Given the description of an element on the screen output the (x, y) to click on. 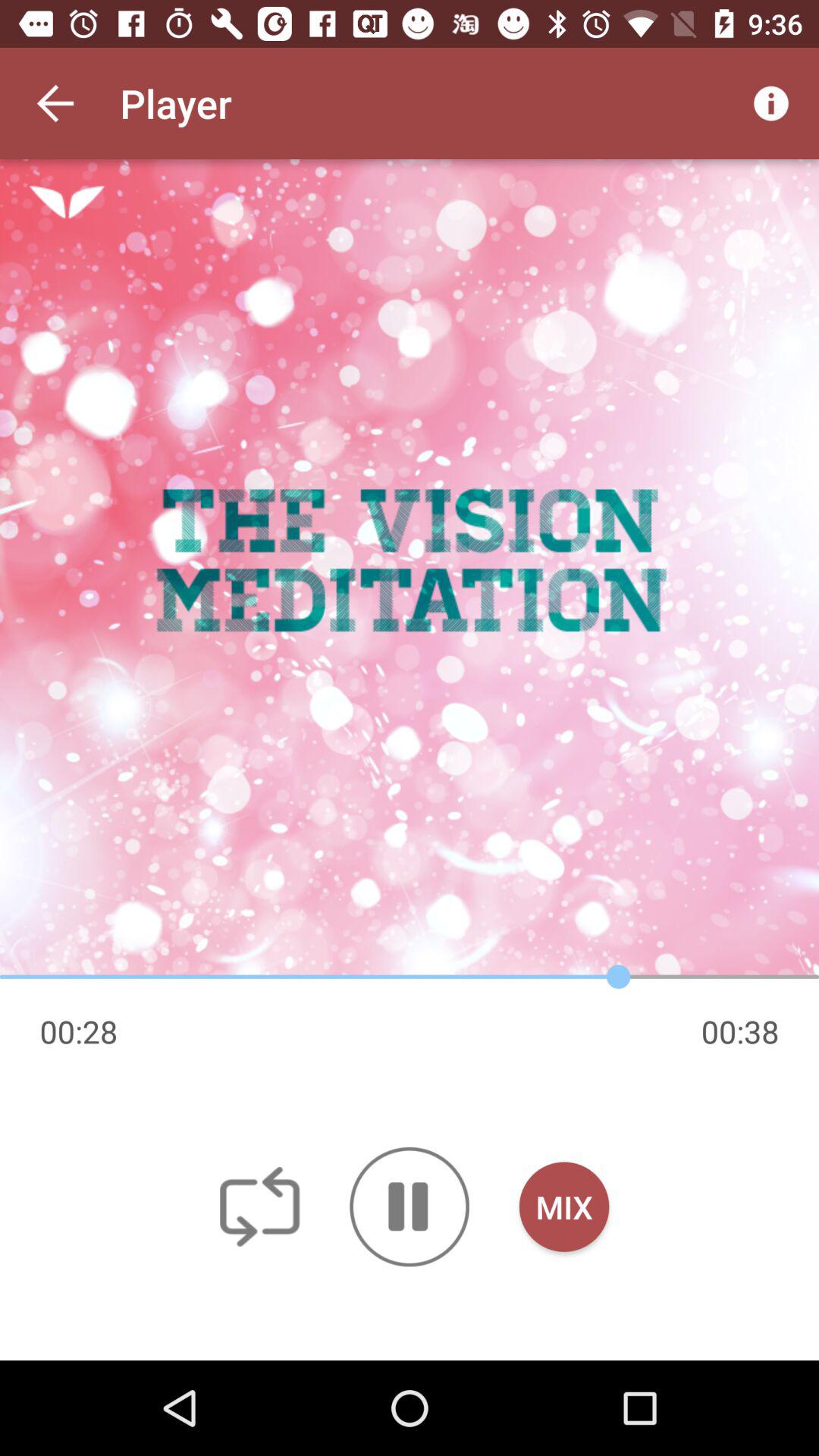
select icon to the left of mix button (409, 1206)
